Given the description of an element on the screen output the (x, y) to click on. 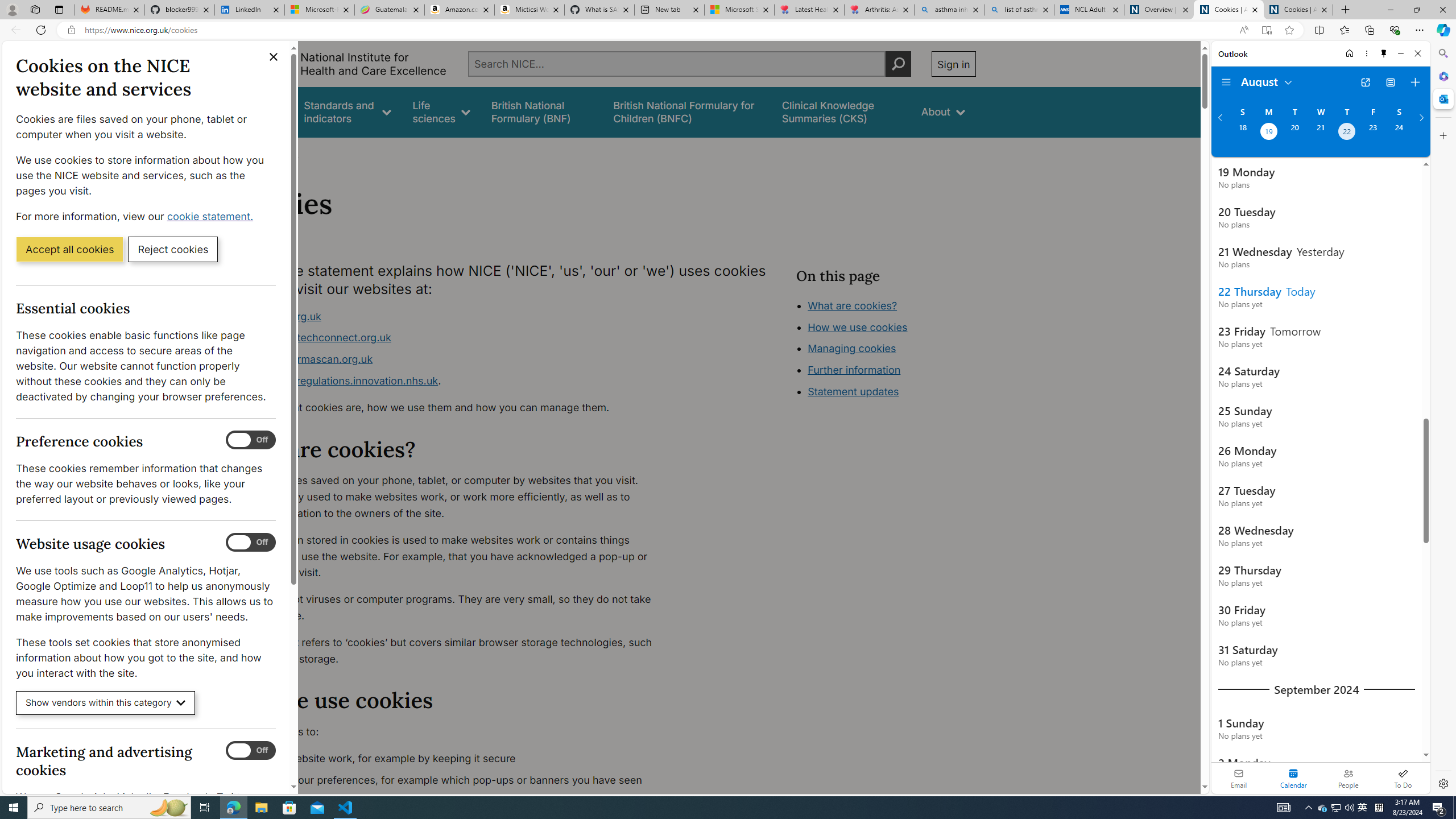
Close Customize pane (1442, 135)
Reject cookies (173, 248)
Show vendors within this category (105, 703)
Guidance (260, 111)
August (1267, 80)
Life sciences (440, 111)
Thursday, August 22, 2024. Today.  (1346, 132)
NCL Adult Asthma Inhaler Choice Guideline (1088, 9)
Side bar (1443, 418)
asthma inhaler - Search (949, 9)
Unpin side pane (1383, 53)
